Given the description of an element on the screen output the (x, y) to click on. 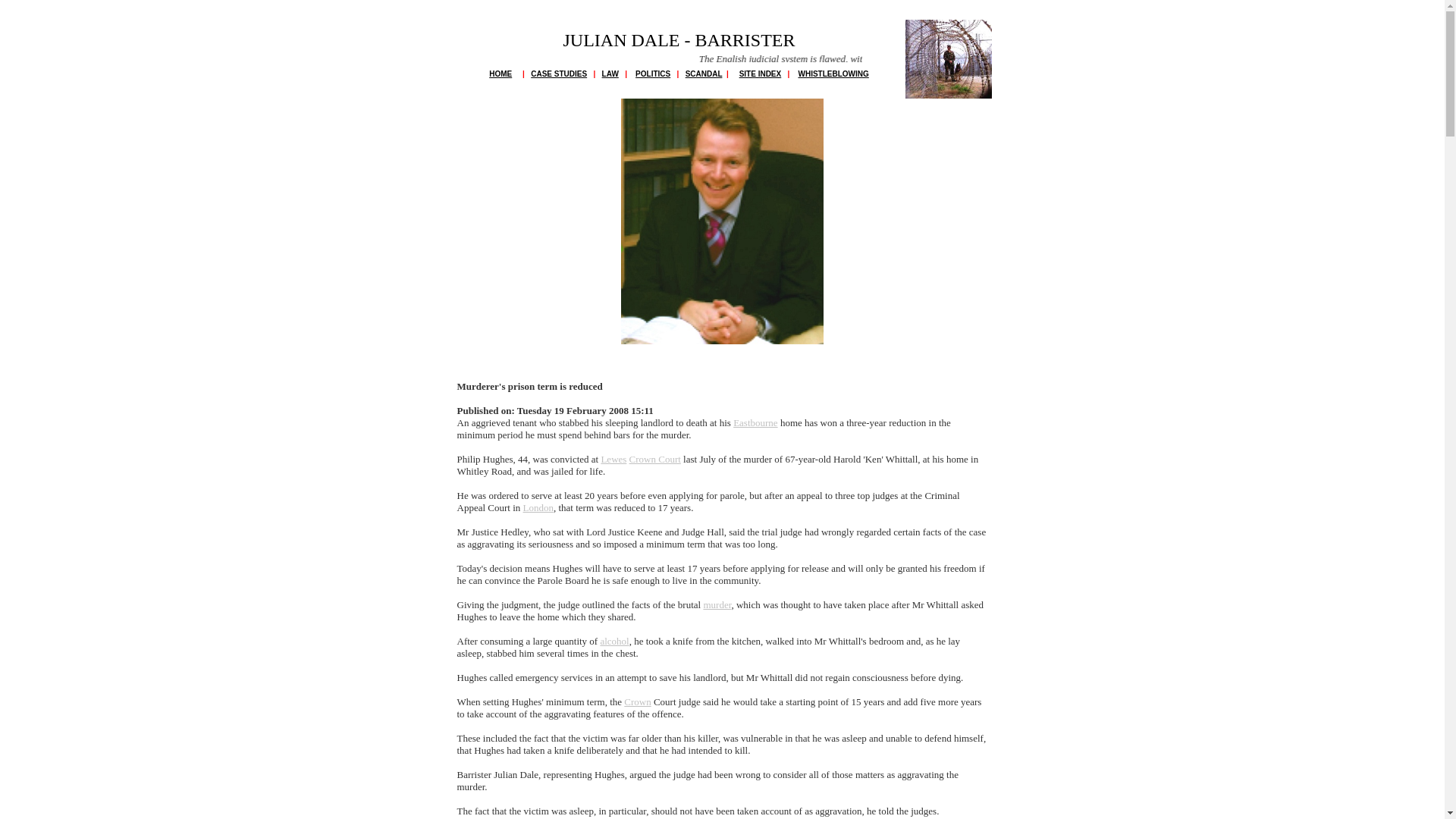
WHISTLEBLOWING (832, 73)
POLITICS (651, 73)
Crown (637, 701)
alcohol (613, 641)
Eastbourne (755, 422)
LAW (610, 73)
London (537, 507)
Crown Court (654, 459)
murder (716, 604)
HOME (500, 73)
